Given the description of an element on the screen output the (x, y) to click on. 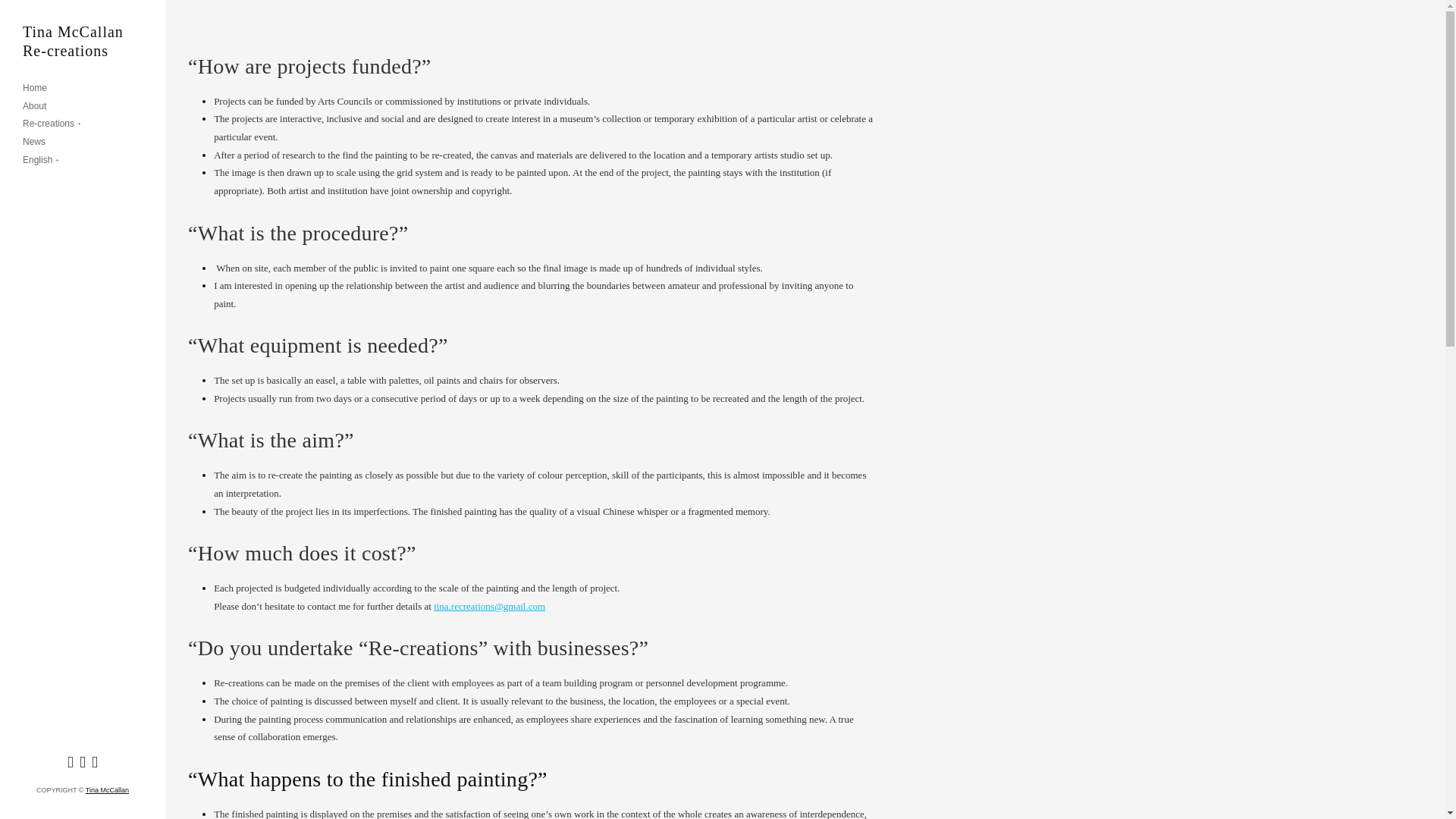
News (34, 142)
About (34, 106)
Re-creations (52, 123)
Tina McCallan (107, 789)
English (41, 160)
Tina McCallan Re-creations (82, 40)
Home (34, 88)
